Given the description of an element on the screen output the (x, y) to click on. 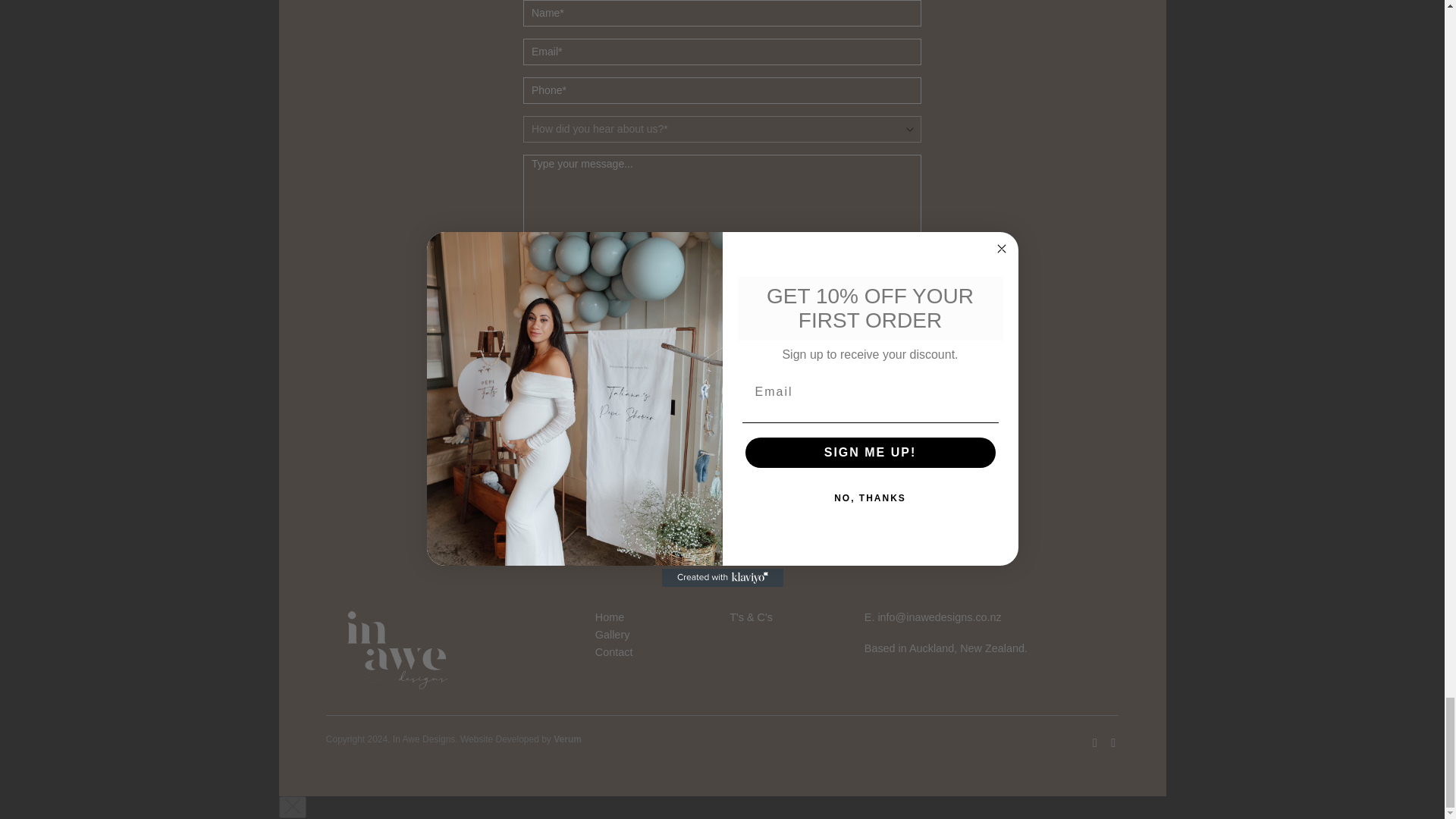
Submit (722, 352)
